Given the description of an element on the screen output the (x, y) to click on. 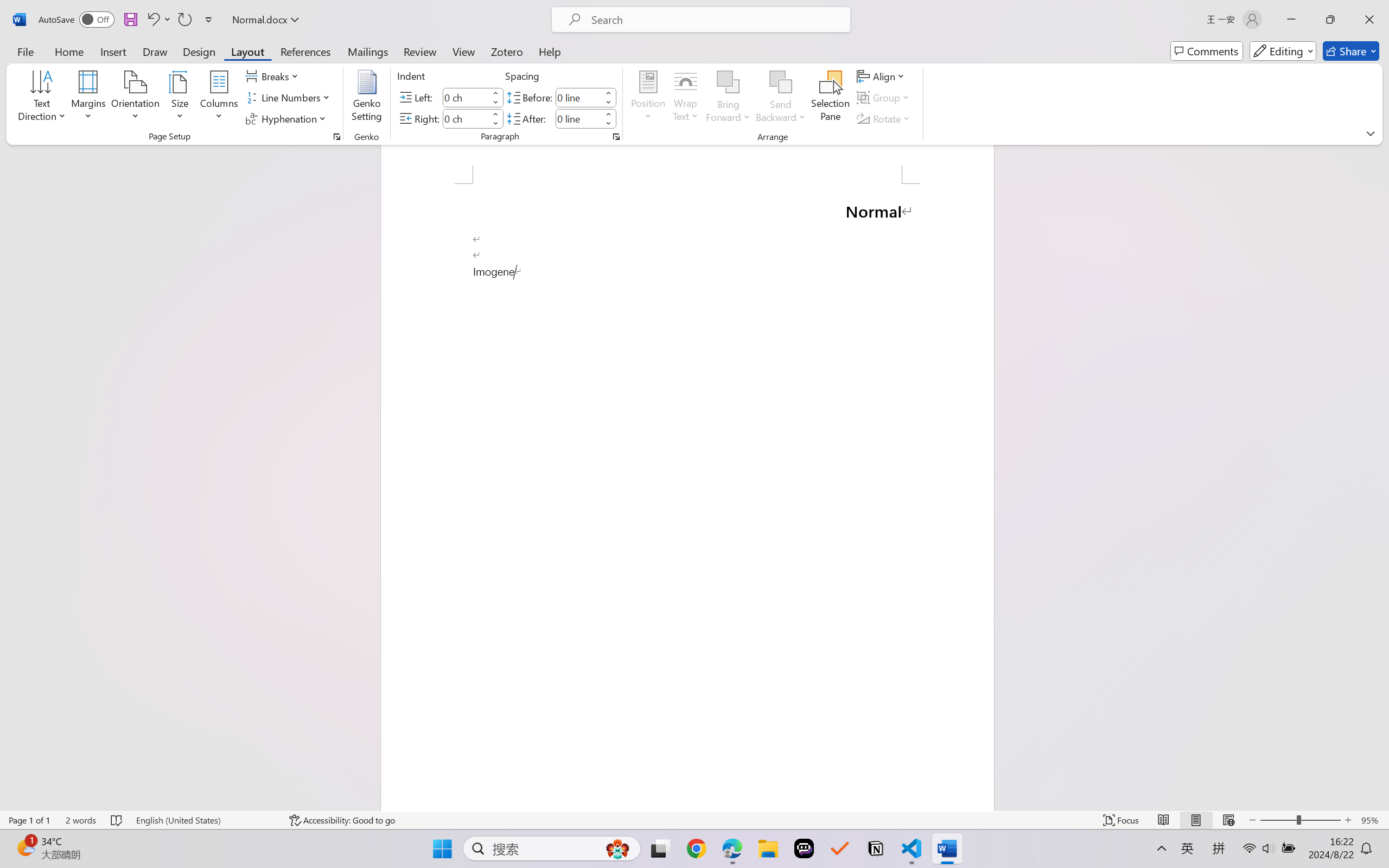
Page Number Page 1 of 1 (29, 819)
Spacing After (578, 118)
Undo Italic (152, 19)
